Given the description of an element on the screen output the (x, y) to click on. 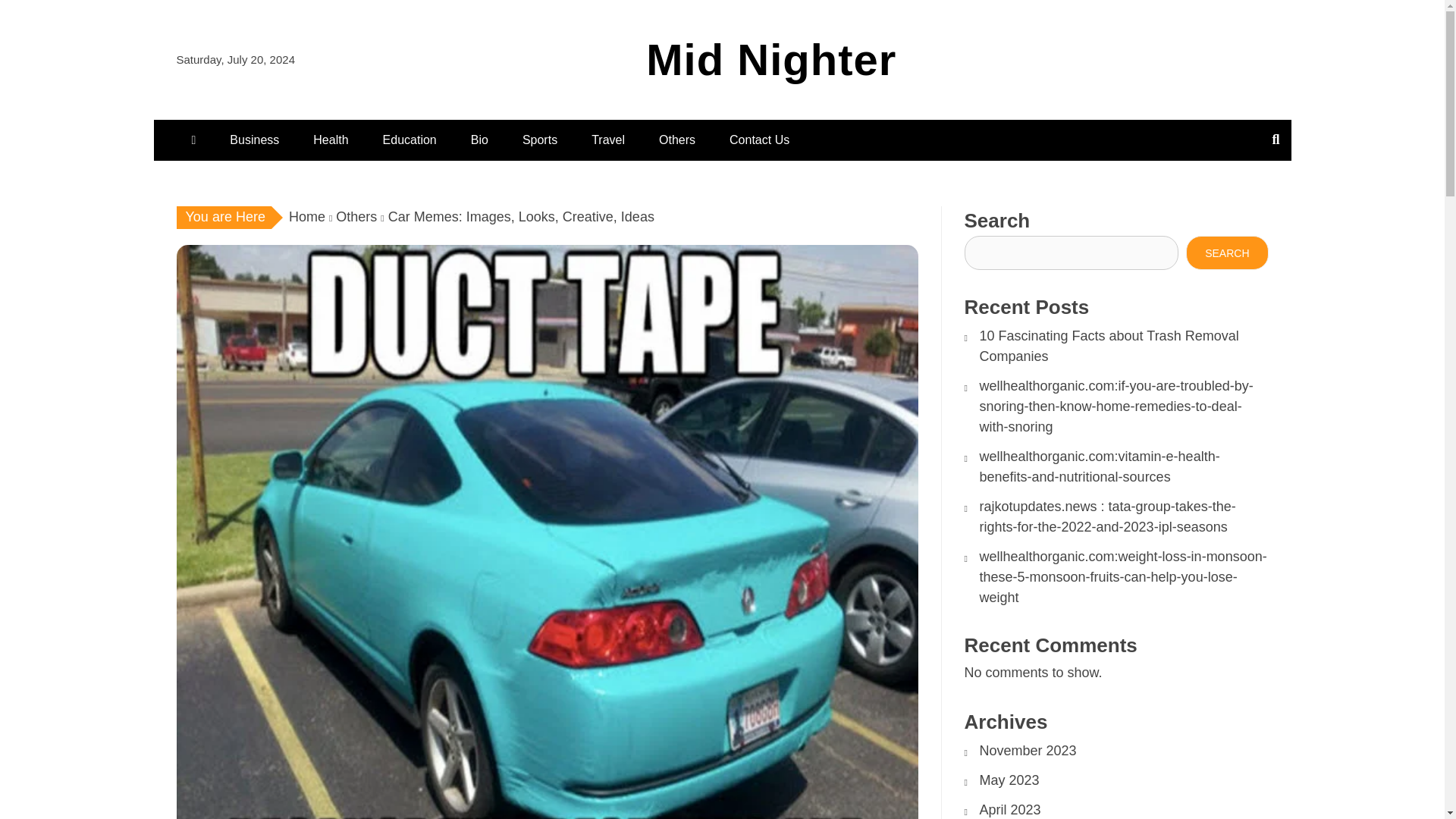
Business (254, 139)
Mid Nighter (771, 59)
Home (306, 216)
Bio (479, 139)
Others (356, 216)
Contact Us (759, 139)
Sports (539, 139)
Education (409, 139)
Health (330, 139)
Others (676, 139)
Travel (608, 139)
